Given the description of an element on the screen output the (x, y) to click on. 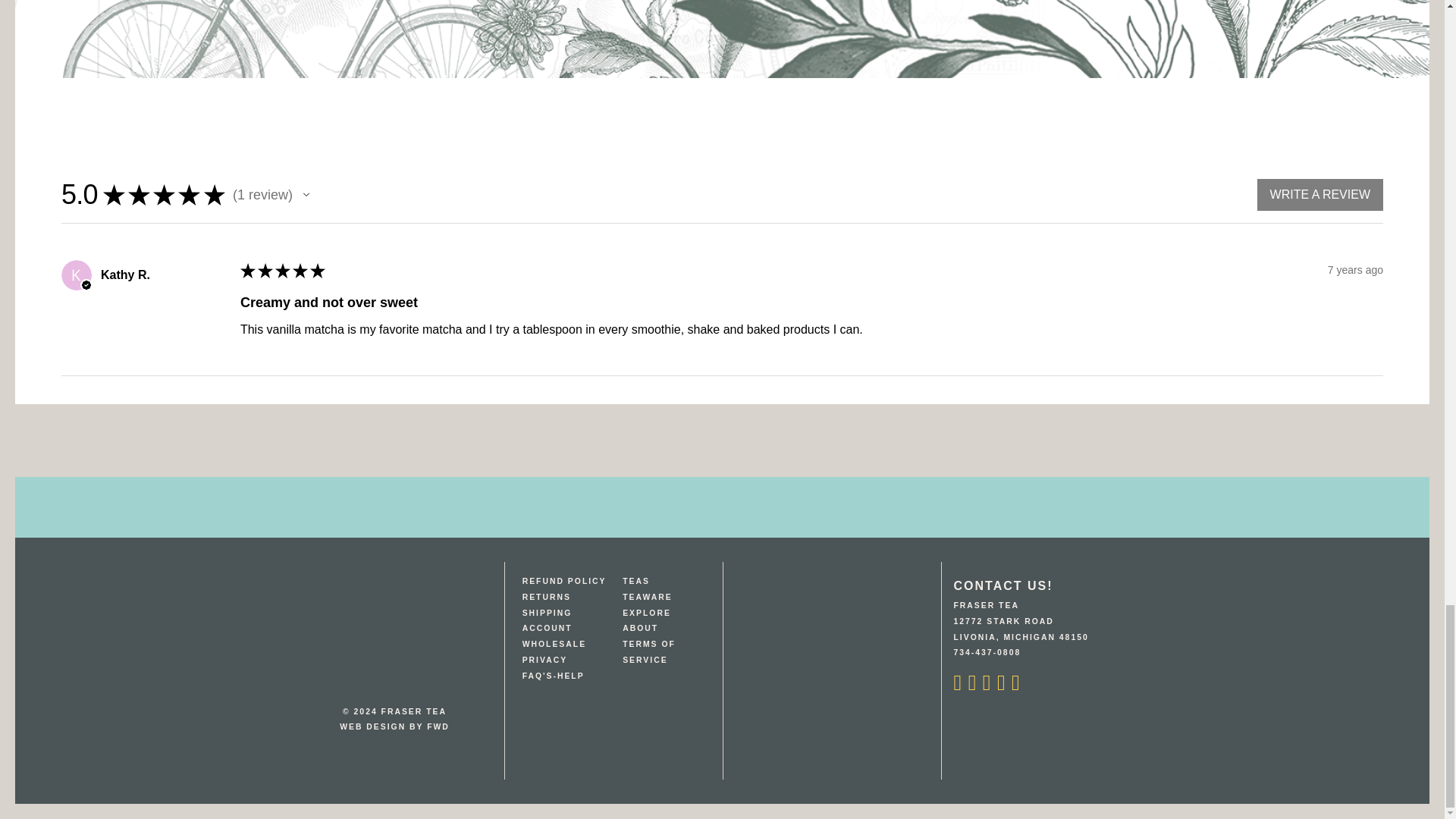
International Tea Masters Association (783, 632)
USDA Certified Organic (879, 632)
Brand Credit (394, 726)
Fair Trade Certified (783, 696)
Kosher Certification Michigan (783, 761)
Carbon Fund (879, 696)
